Given the description of an element on the screen output the (x, y) to click on. 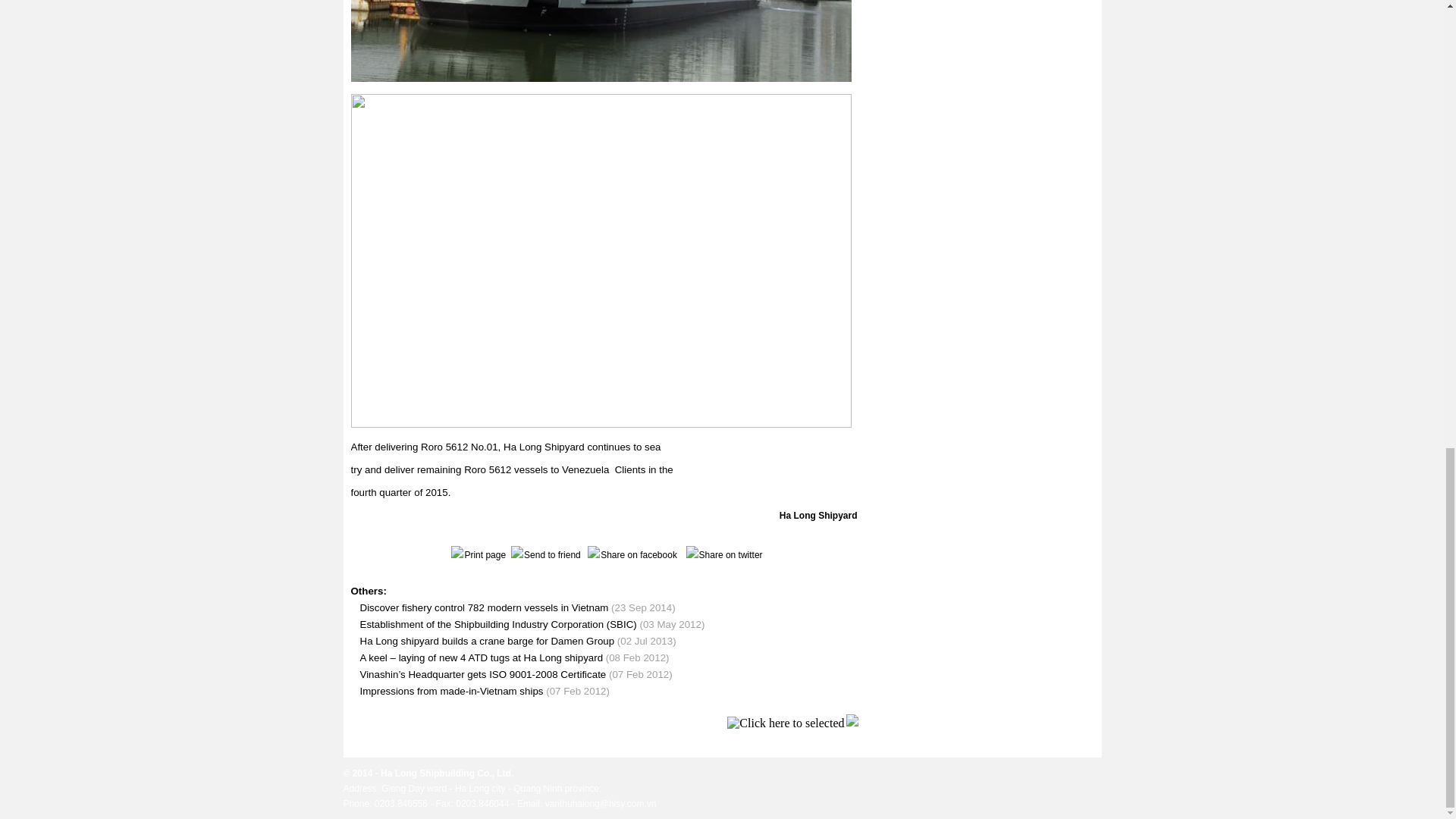
Share on twitter (722, 554)
Click here to selected (785, 723)
Share on facebook (630, 554)
Print page (475, 554)
Discover fishery control 782 modern vessels in Vietnam (483, 607)
Ha Long shipyard builds a crane barge for Damen Group (486, 641)
Print page (475, 554)
